Given the description of an element on the screen output the (x, y) to click on. 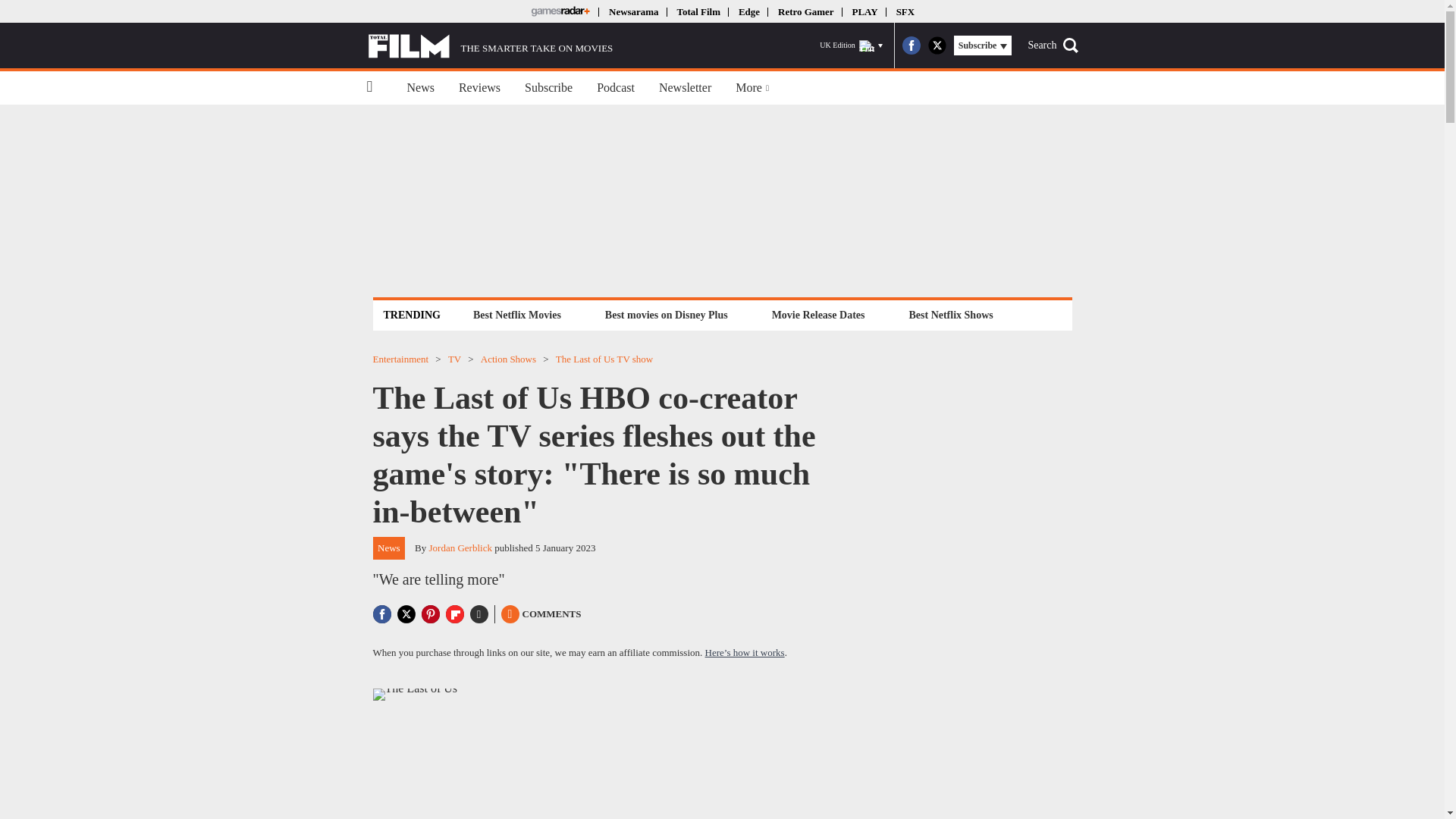
News (419, 87)
PLAY (864, 11)
SFX (905, 11)
Total Film (698, 11)
Best Netflix Movies (516, 314)
Best movies on Disney Plus (666, 314)
Reviews (479, 87)
UK Edition (850, 45)
Edge (749, 11)
THE SMARTER TAKE ON MOVIES (489, 44)
